Given the description of an element on the screen output the (x, y) to click on. 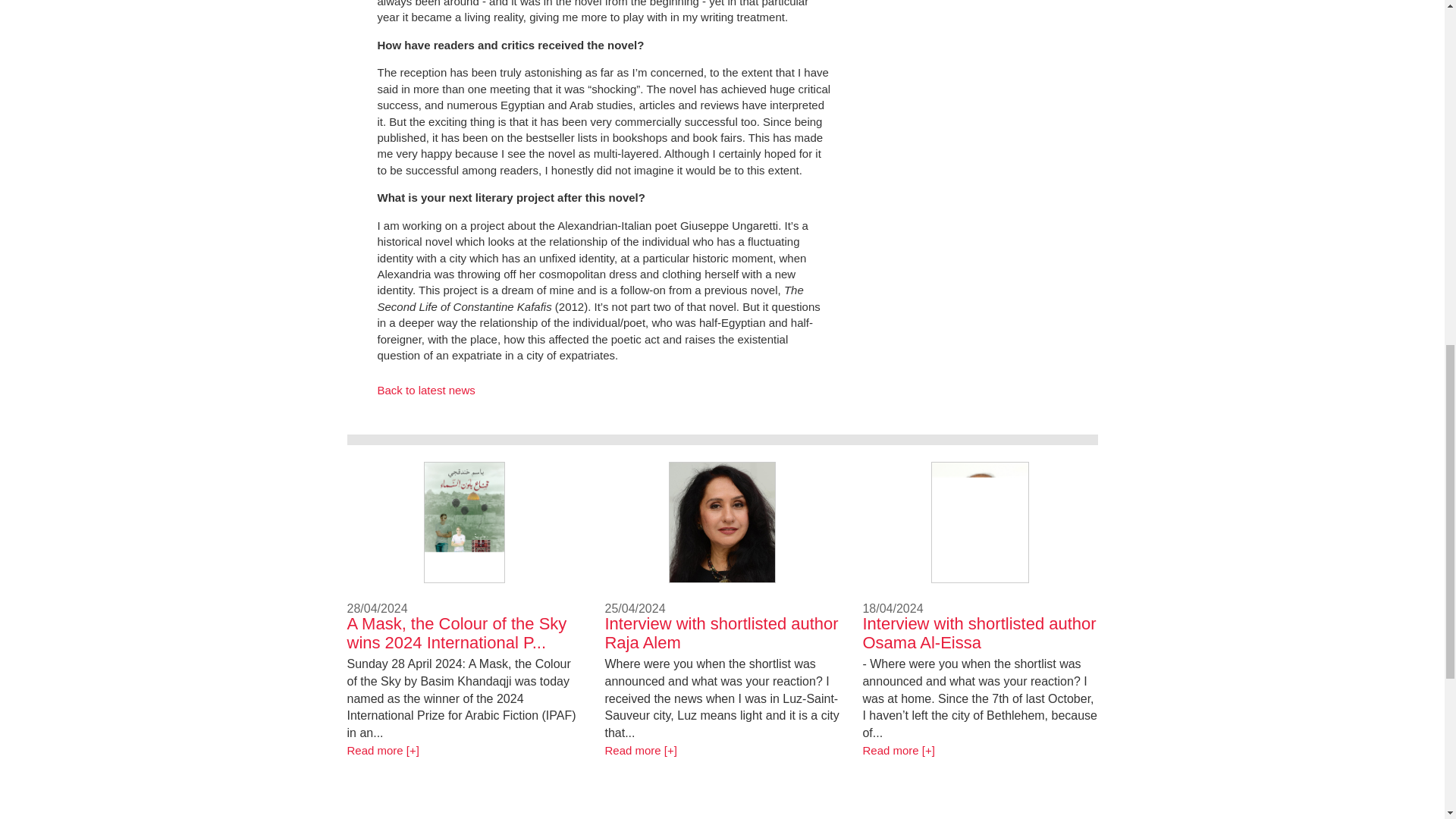
Interview with shortlisted author Osama Al-Eissa (978, 632)
Interview with shortlisted author Raja Alem  (640, 749)
Back to latest news (426, 390)
Back to latest news (426, 390)
Interview with shortlisted author Raja Alem (721, 632)
Interview with shortlisted author Osama Al-Eissa (897, 749)
A Mask, the Colour of the Sky wins 2024 International P... (457, 632)
